Given the description of an element on the screen output the (x, y) to click on. 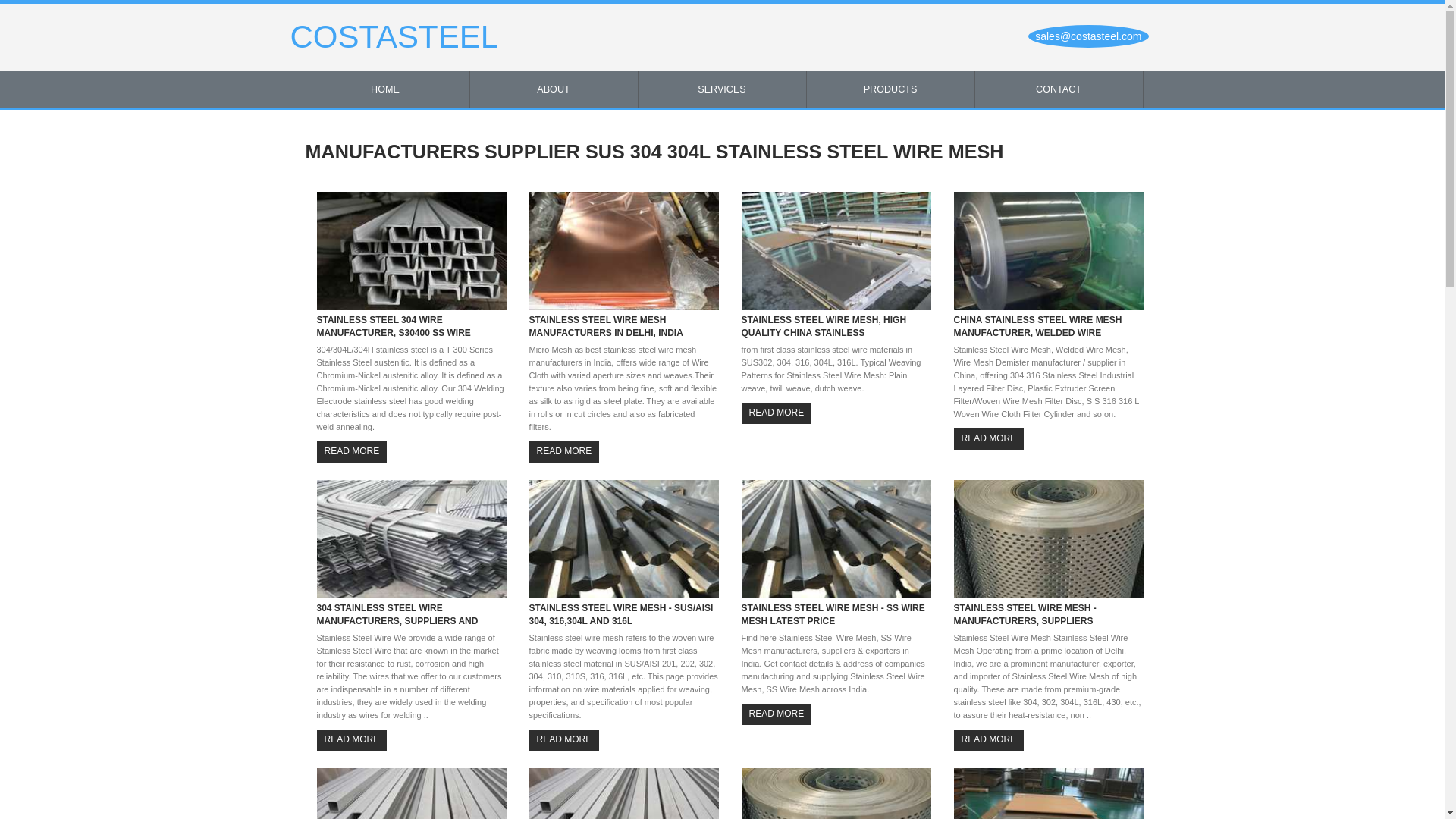
CONTACT (1058, 89)
SERVICES (722, 89)
READ MORE (352, 739)
READ MORE (776, 412)
PRODUCTS (890, 89)
HOME (384, 89)
READ MORE (352, 451)
READ MORE (564, 451)
ABOUT (553, 89)
READ MORE (776, 713)
